Given the description of an element on the screen output the (x, y) to click on. 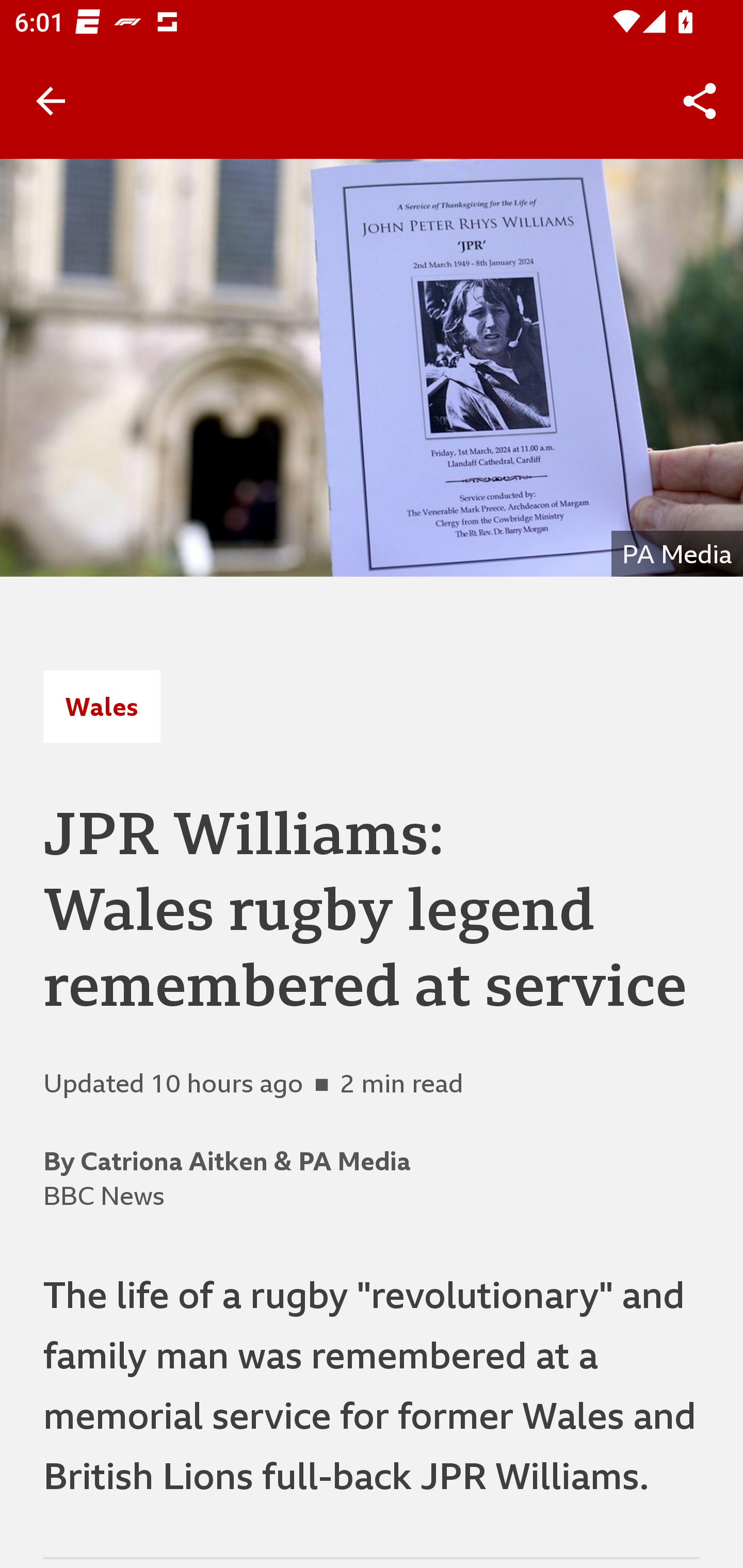
Back (50, 101)
Share (699, 101)
Wales (101, 706)
